Given the description of an element on the screen output the (x, y) to click on. 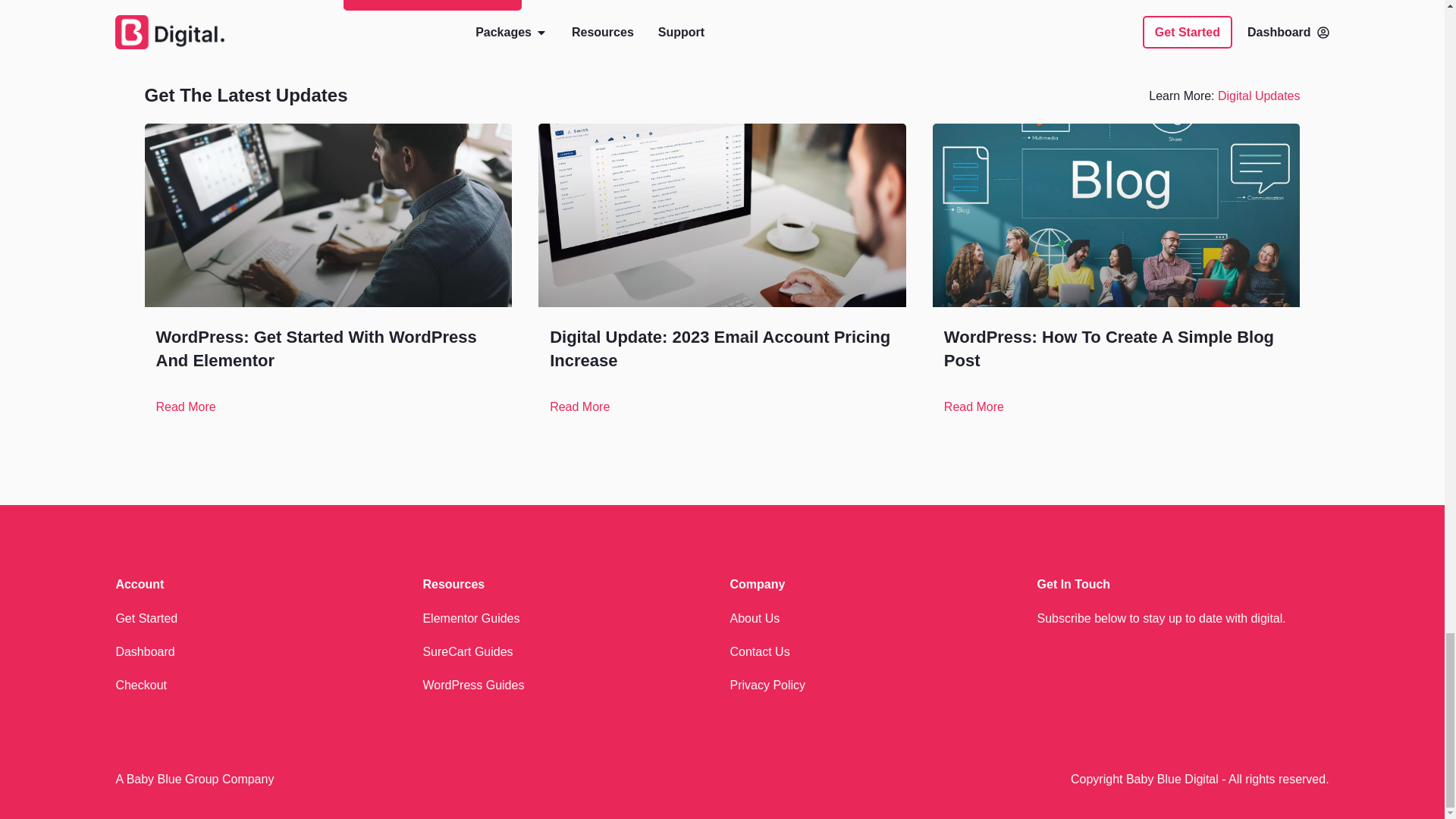
Digital Updates (1258, 95)
WordPress: Get Started With WordPress And Elementor (316, 348)
Read More (185, 406)
Contact Us For More Info (431, 5)
